Given the description of an element on the screen output the (x, y) to click on. 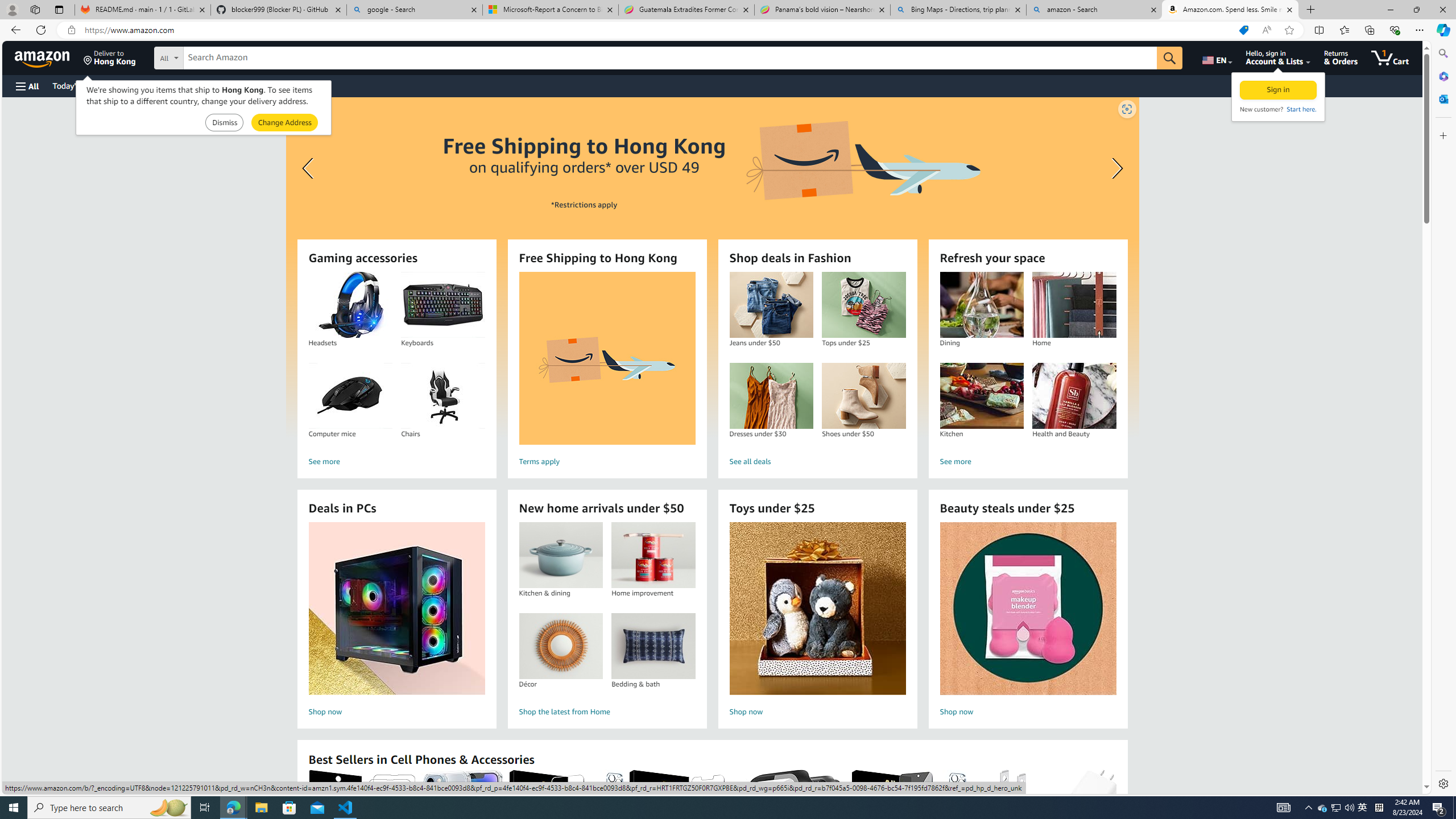
Kitchen & dining (560, 555)
Search Amazon (670, 57)
Returns & Orders (1340, 57)
Choose a language for shopping. (1216, 57)
Beauty steals under $25 (1027, 608)
Home improvement (652, 555)
